Given the description of an element on the screen output the (x, y) to click on. 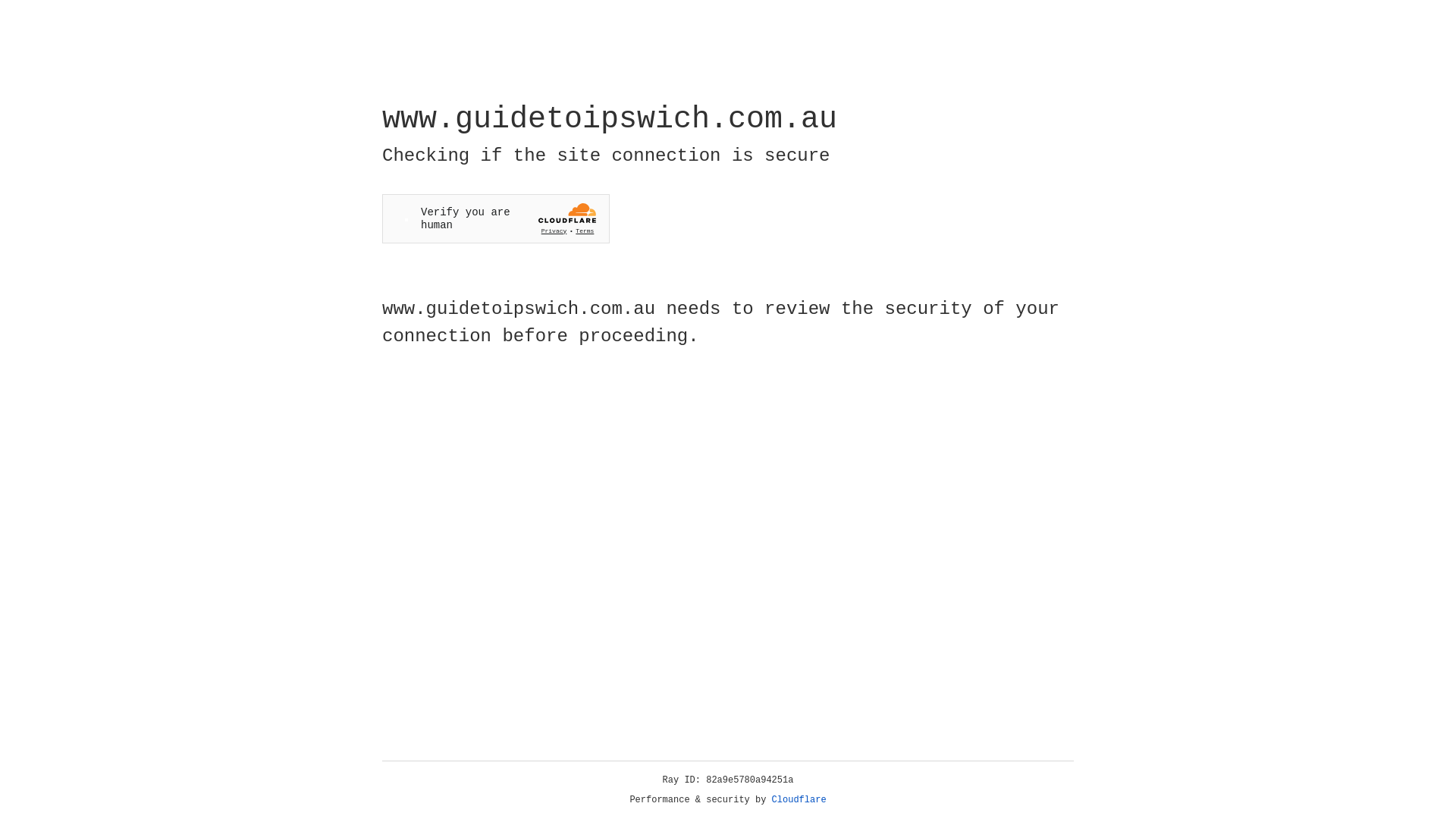
Widget containing a Cloudflare security challenge Element type: hover (495, 218)
Cloudflare Element type: text (798, 799)
